Given the description of an element on the screen output the (x, y) to click on. 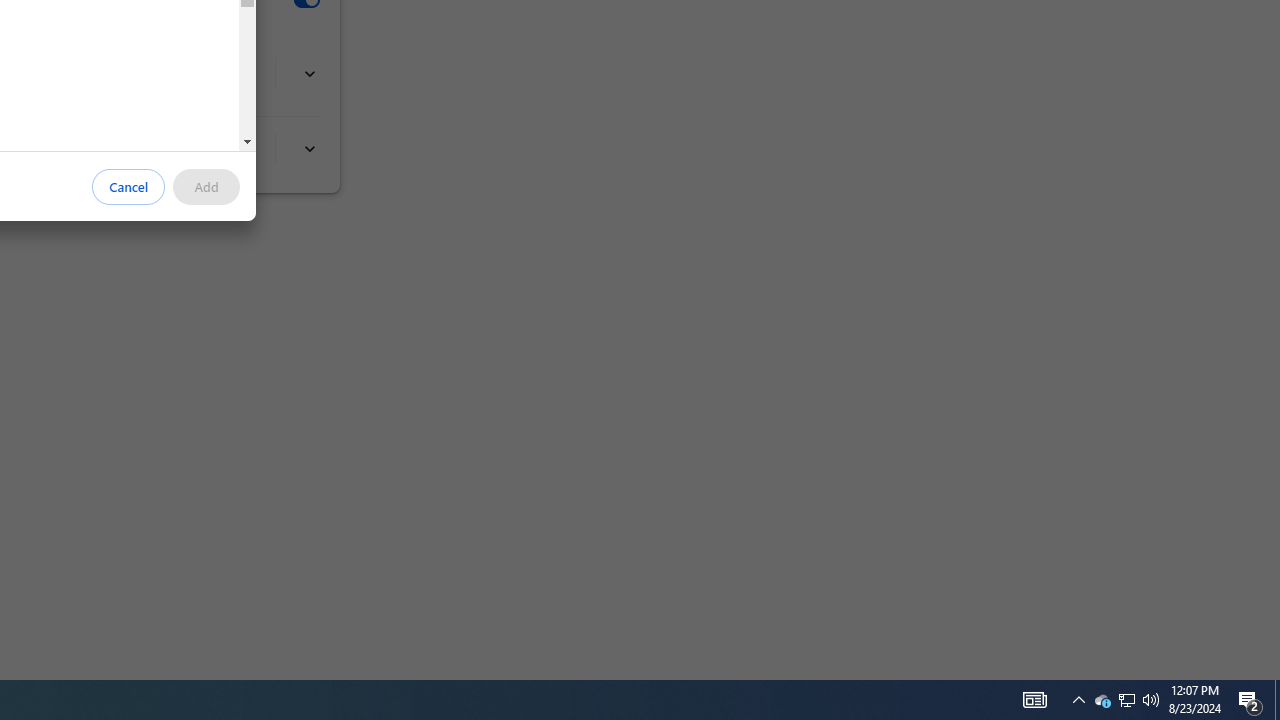
Add (206, 187)
Cancel (129, 187)
